Given the description of an element on the screen output the (x, y) to click on. 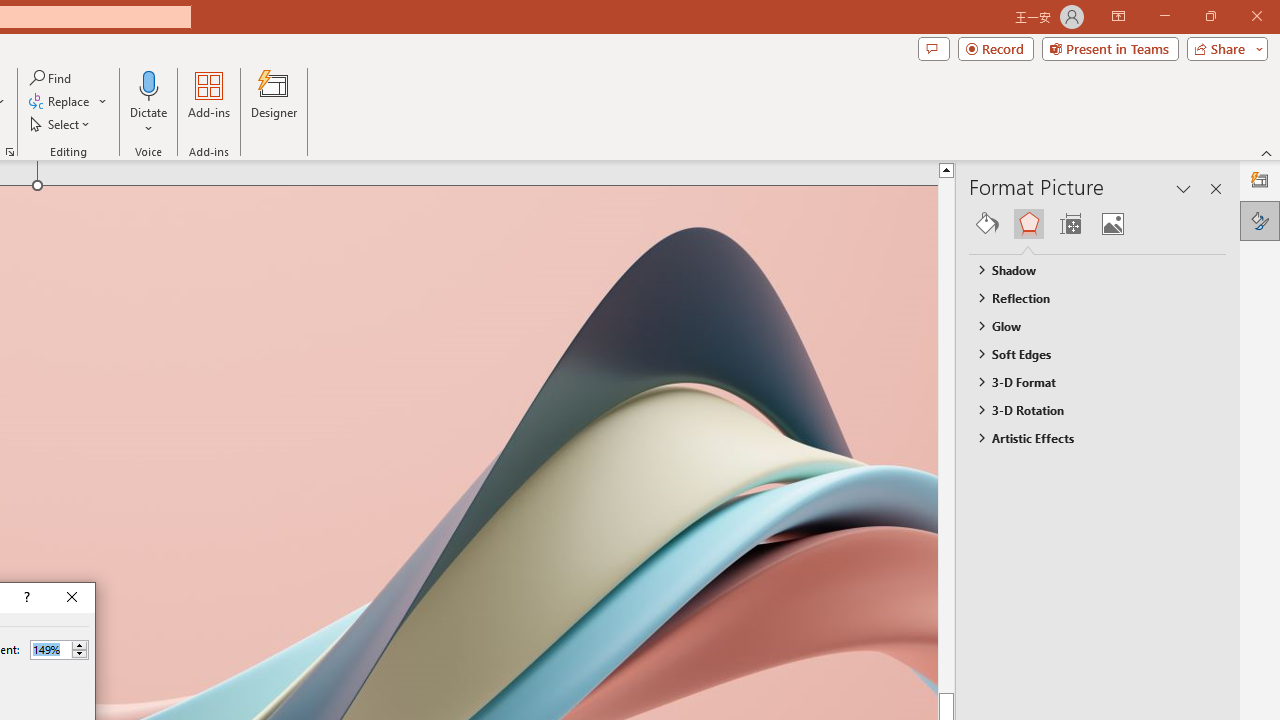
Effects (1028, 223)
3-D Format (1088, 381)
Context help (25, 597)
3-D Rotation (1088, 410)
Reflection (1088, 297)
Artistic Effects (1088, 438)
